Given the description of an element on the screen output the (x, y) to click on. 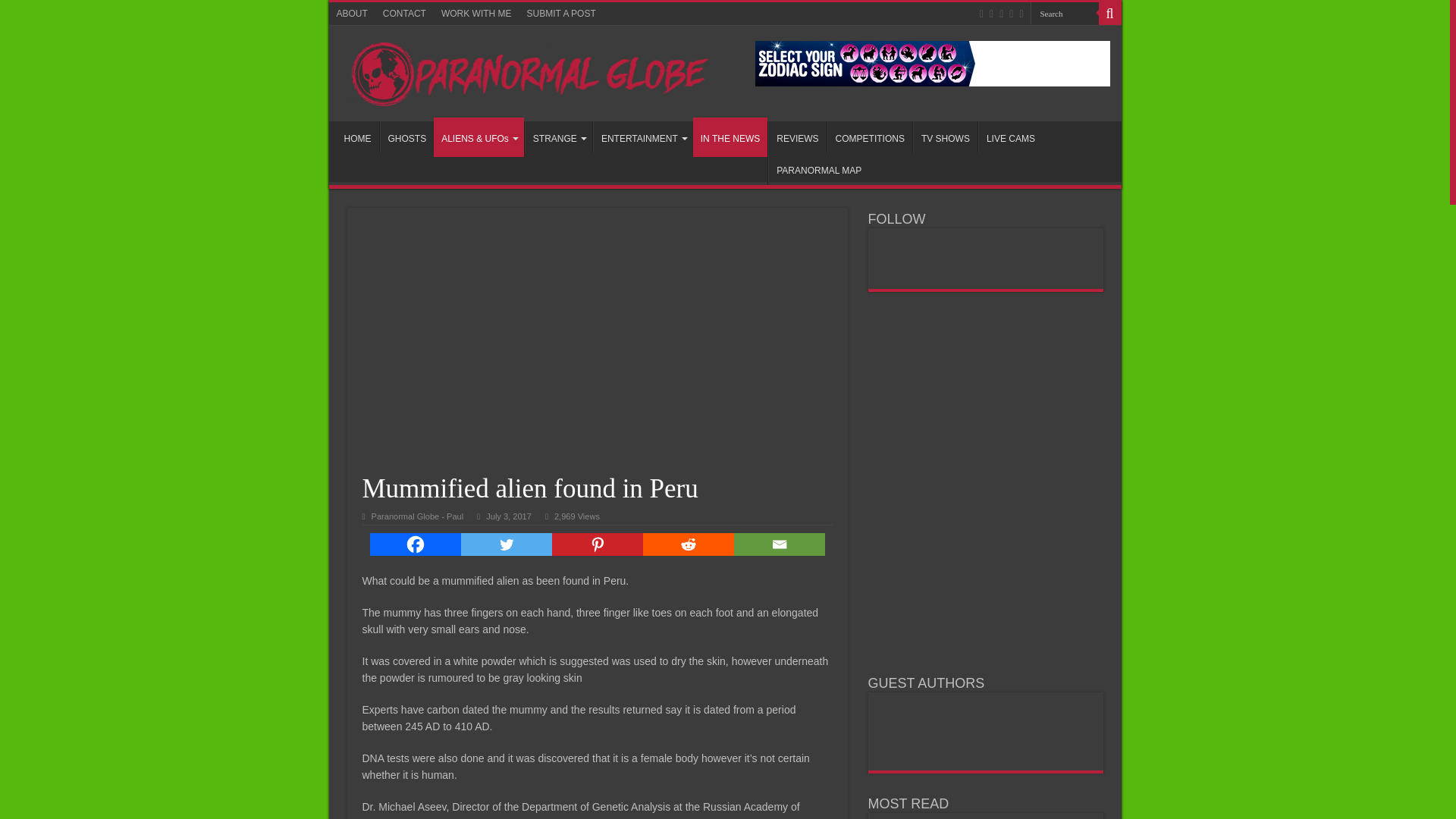
ABOUT (352, 13)
Search (1063, 13)
IN THE NEWS (730, 137)
Paranormal Globe - Paul (417, 515)
GHOSTS (405, 137)
Search (1063, 13)
STRANGE (558, 137)
REVIEWS (796, 137)
WORK WITH ME (476, 13)
Search (1063, 13)
